Given the description of an element on the screen output the (x, y) to click on. 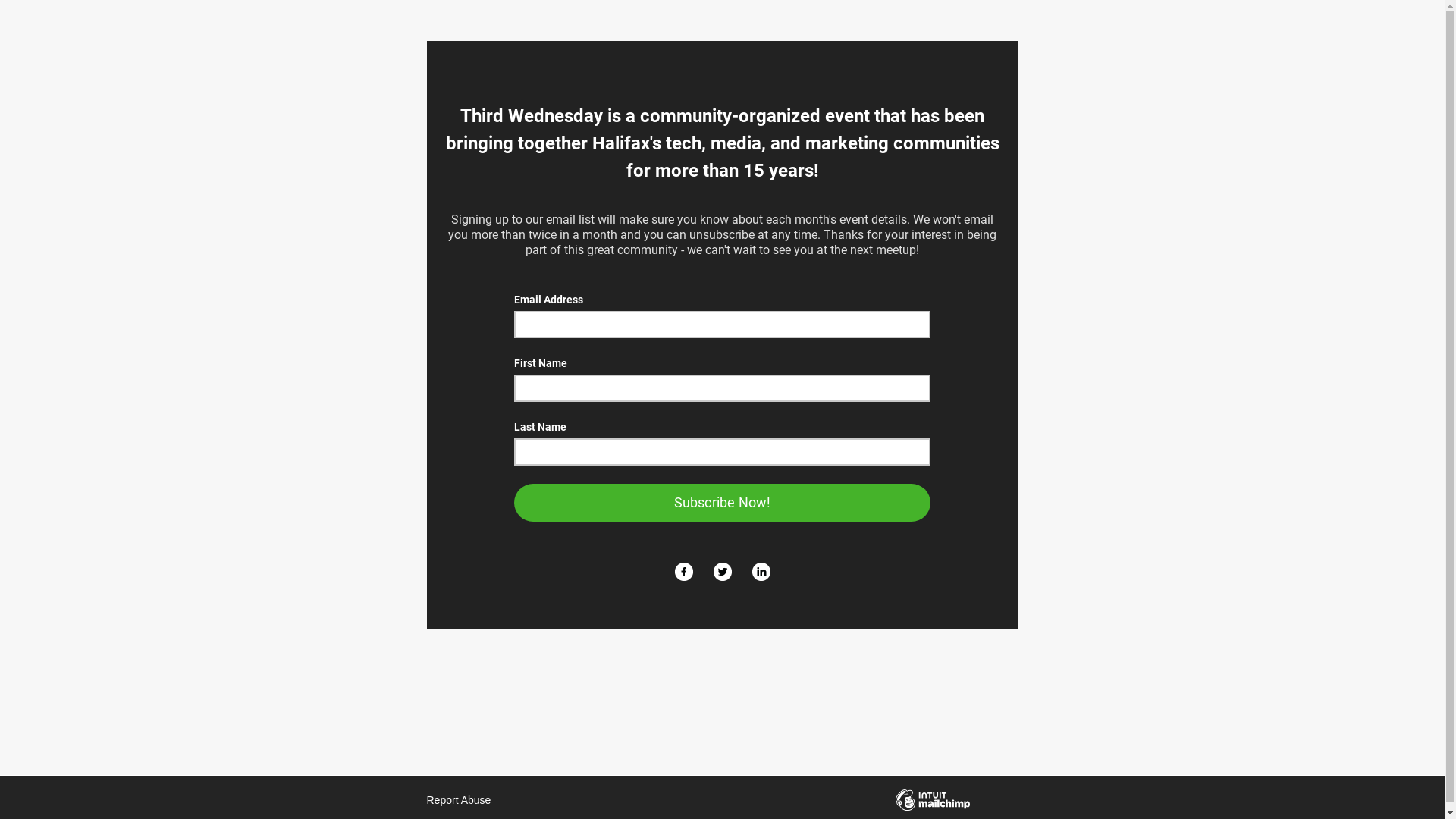
Report Abuse Element type: text (458, 799)
Subscribe Now! Element type: text (722, 502)
